Given the description of an element on the screen output the (x, y) to click on. 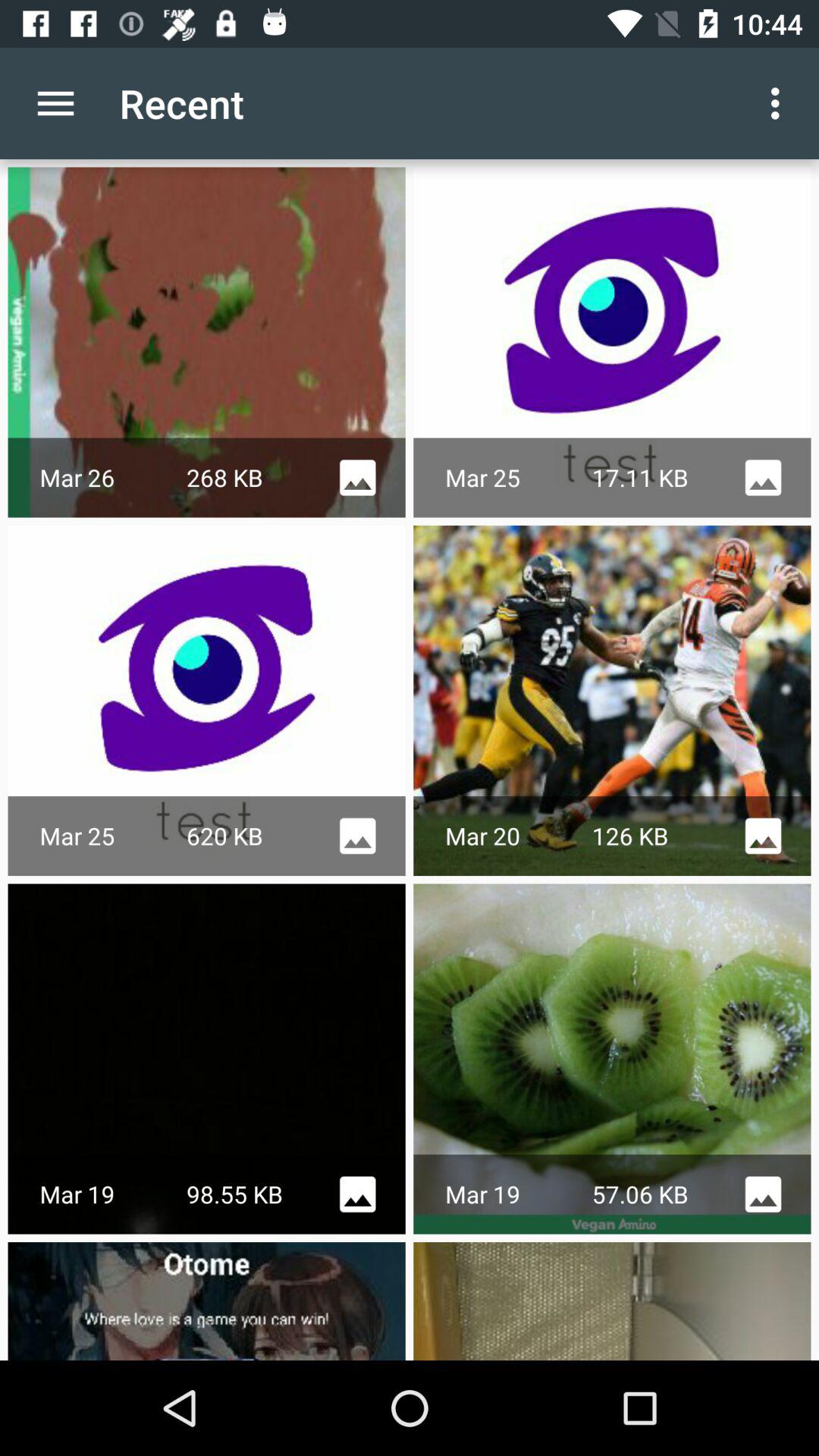
click the icon to the left of the recent icon (55, 103)
